Given the description of an element on the screen output the (x, y) to click on. 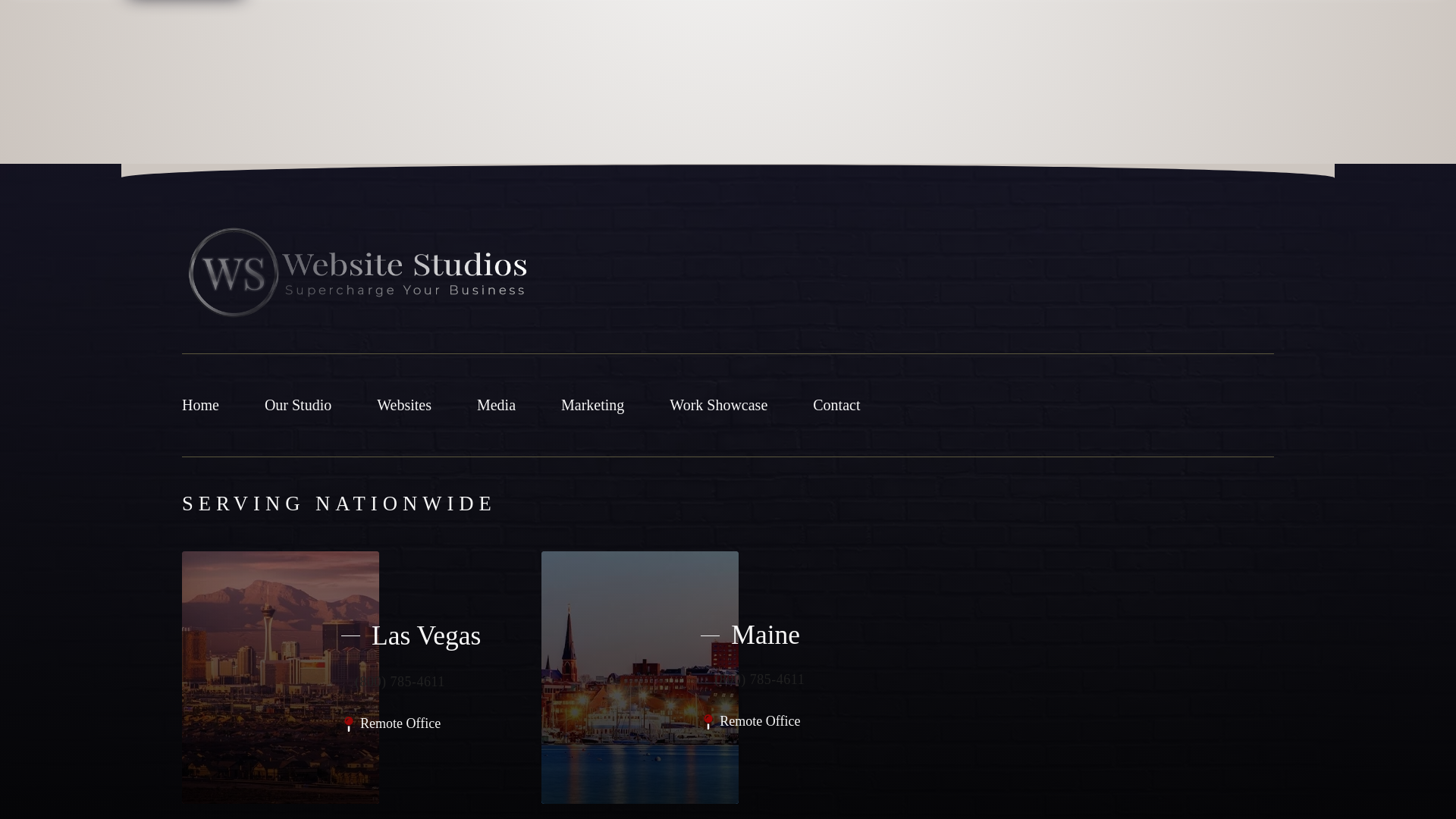
Home (200, 405)
Contact (836, 405)
Media (496, 405)
Websites (403, 405)
Work Showcase (718, 405)
Our Studio (297, 405)
Marketing (592, 405)
